Given the description of an element on the screen output the (x, y) to click on. 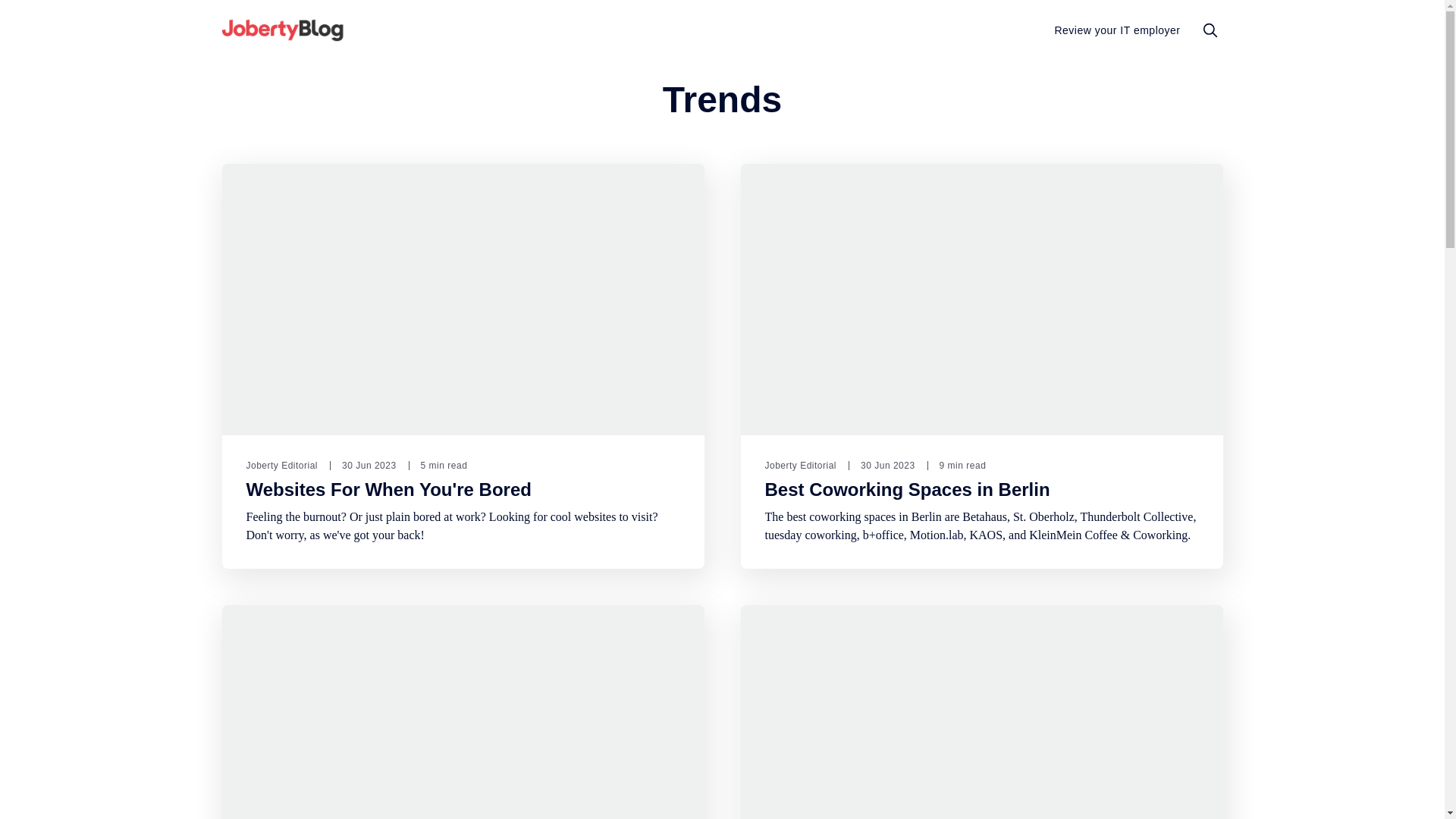
Joberty Editorial (281, 465)
Websites For When You're Bored (388, 489)
Best Coworking Spaces in Berlin (906, 489)
Joberty Editorial (799, 465)
Review your IT employer (1116, 30)
